Given the description of an element on the screen output the (x, y) to click on. 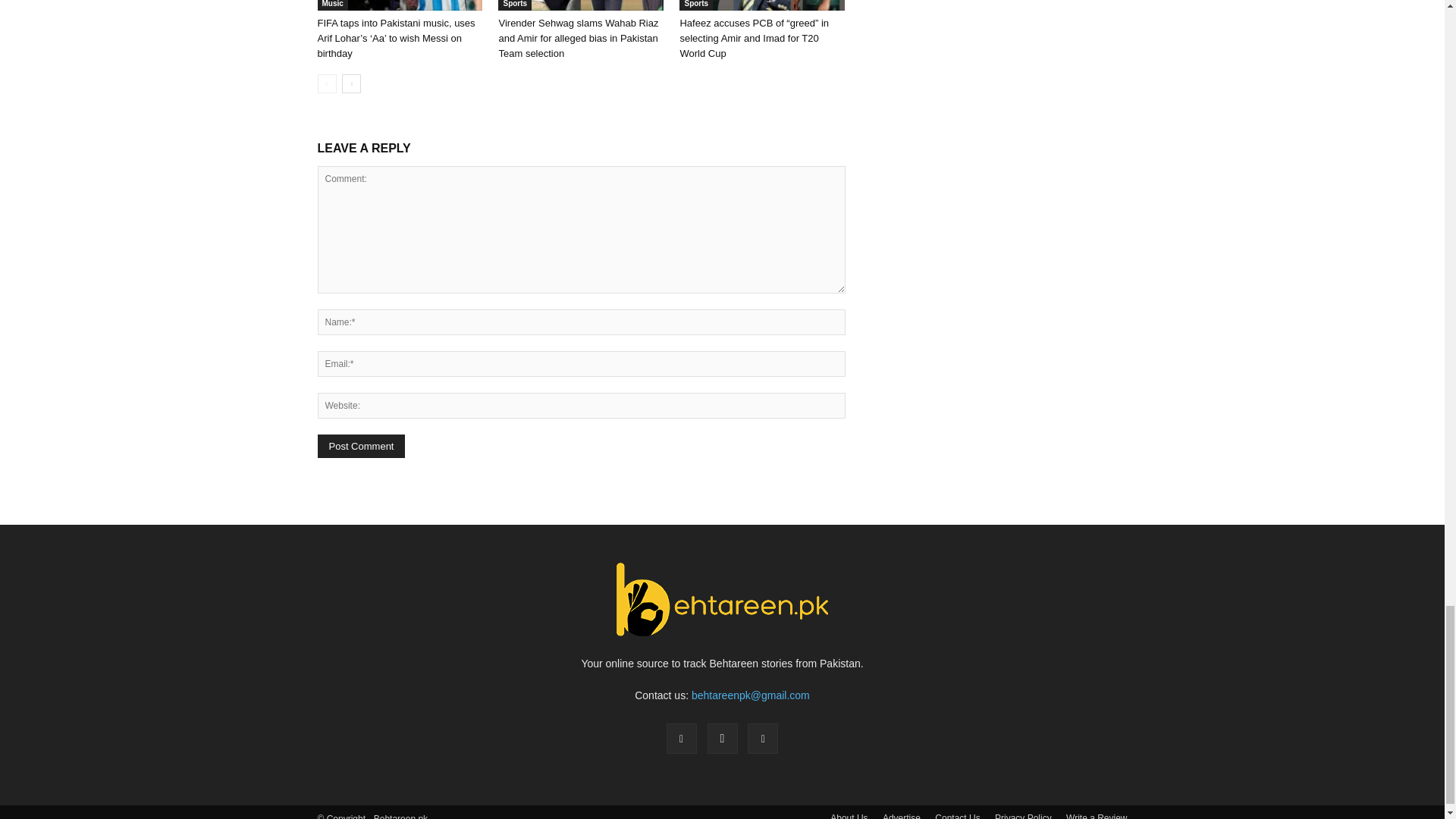
Post Comment (360, 445)
